Given the description of an element on the screen output the (x, y) to click on. 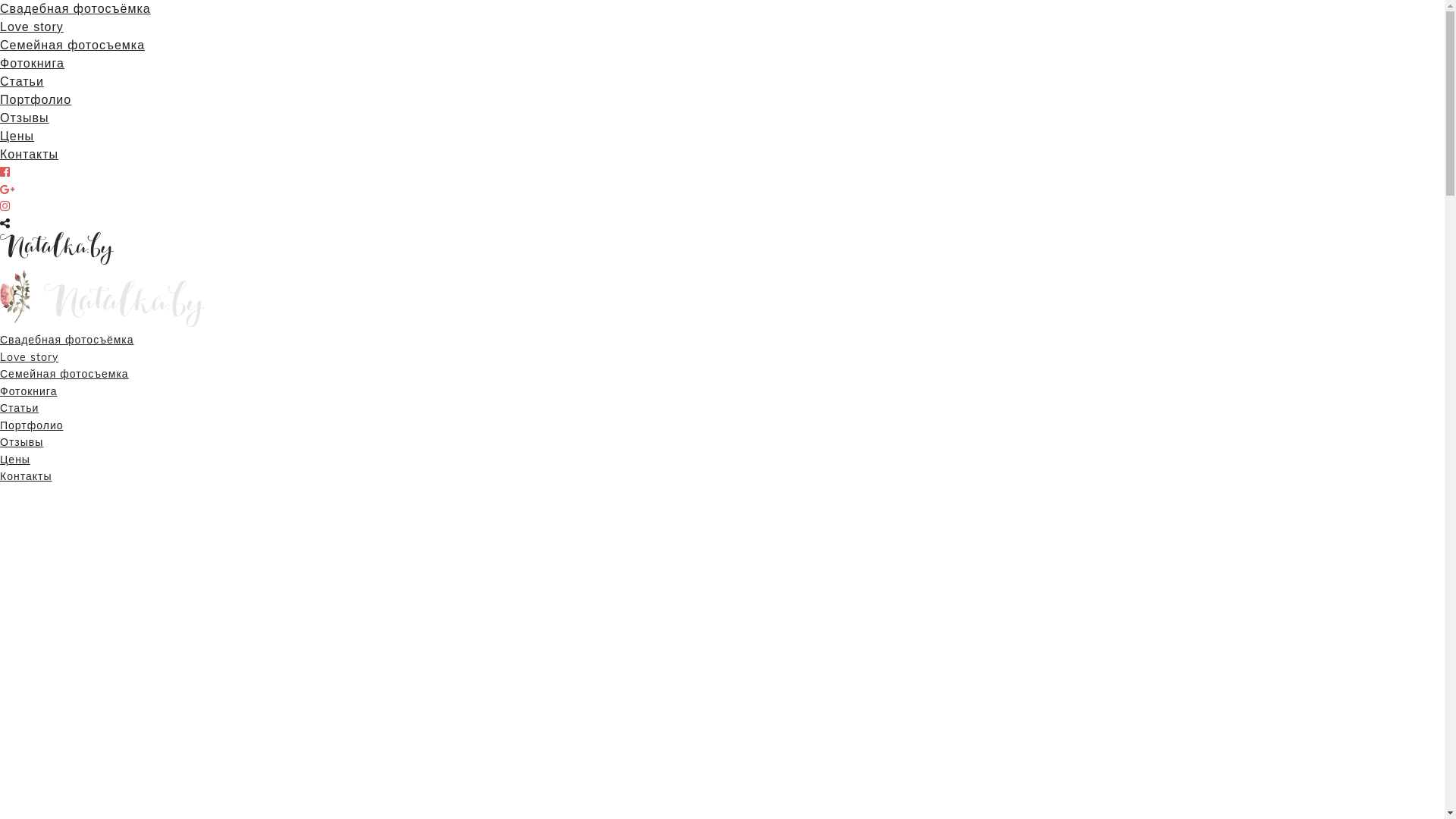
Google+ Element type: hover (7, 189)
Love story Element type: text (31, 26)
Instagram Element type: hover (4, 205)
Love story Element type: text (29, 356)
